Given the description of an element on the screen output the (x, y) to click on. 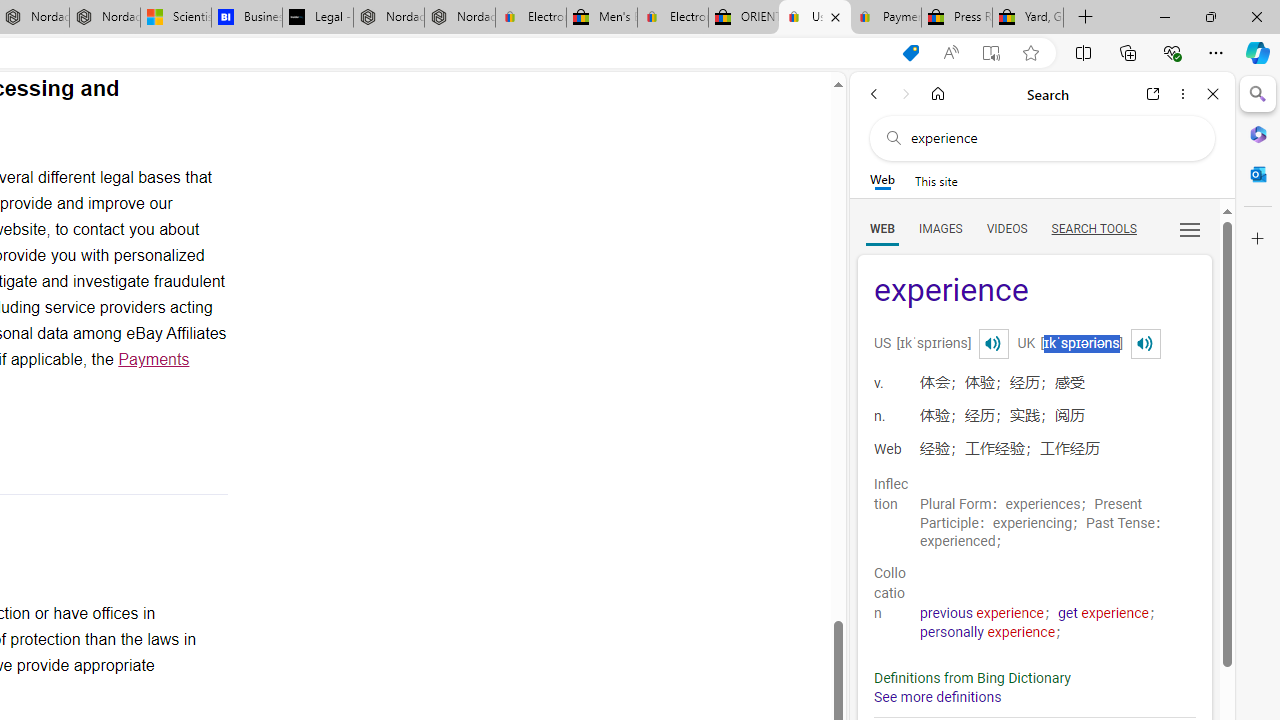
This site has coupons! Shopping in Microsoft Edge (910, 53)
personally experience (988, 632)
